Given the description of an element on the screen output the (x, y) to click on. 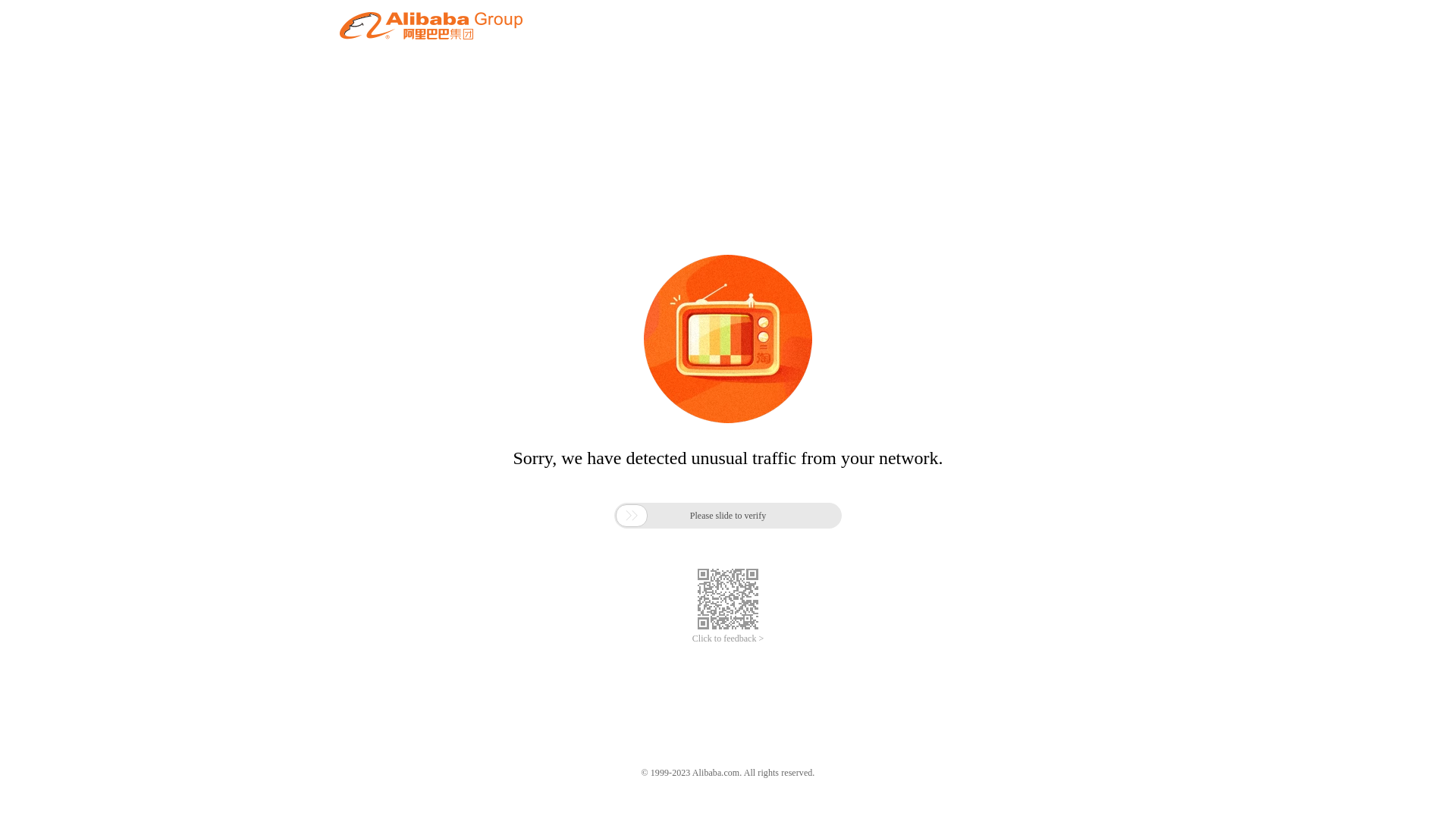
Click to feedback > Element type: text (727, 638)
